Given the description of an element on the screen output the (x, y) to click on. 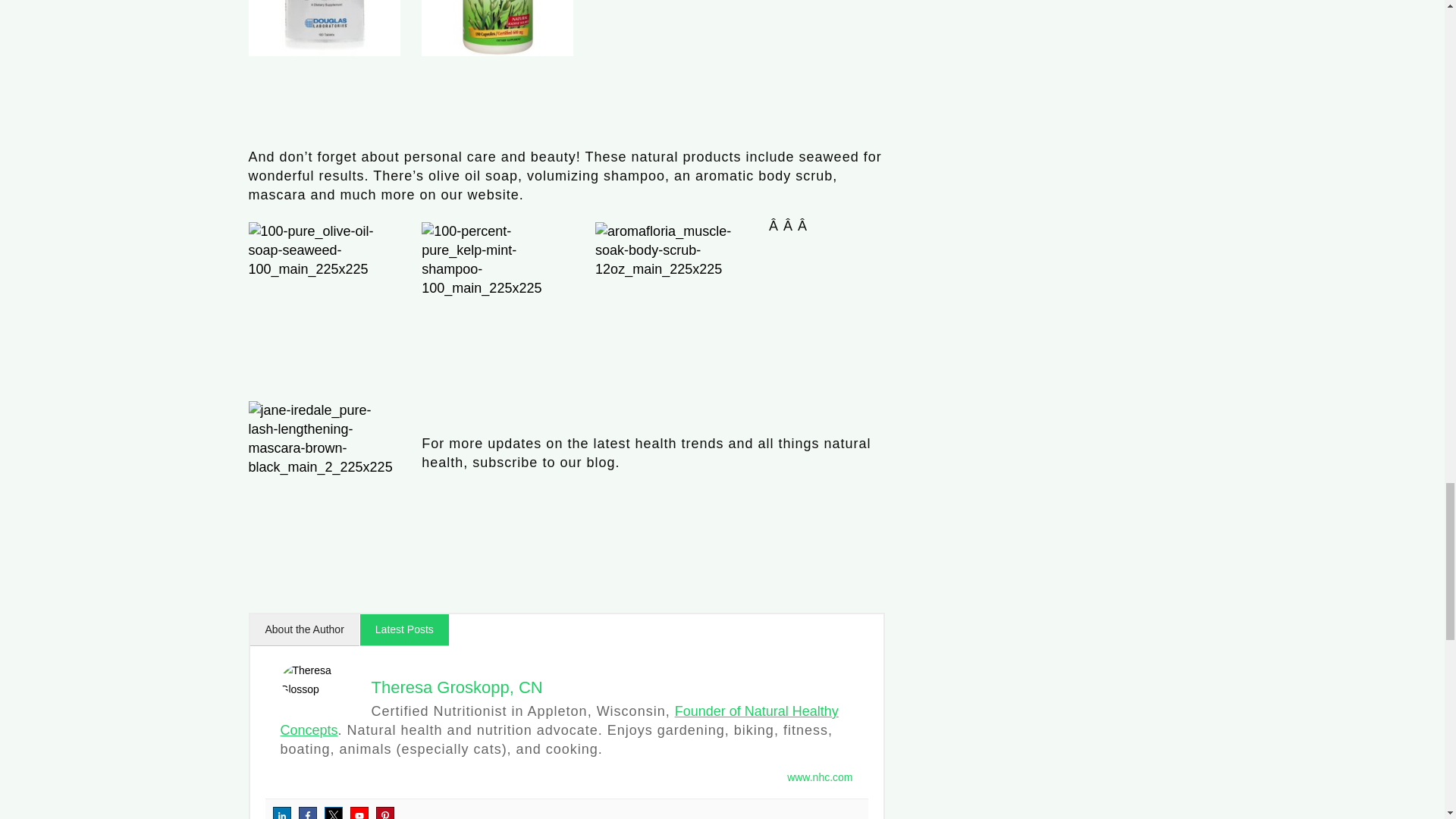
Founder of Natural Healthy Concepts (559, 720)
Youtube (359, 812)
Linkedin (282, 812)
Facebook (307, 812)
Twitter (333, 812)
Theresa Groskopp, CN (457, 687)
Pinterest (384, 812)
www.nhc.com (819, 776)
